Given the description of an element on the screen output the (x, y) to click on. 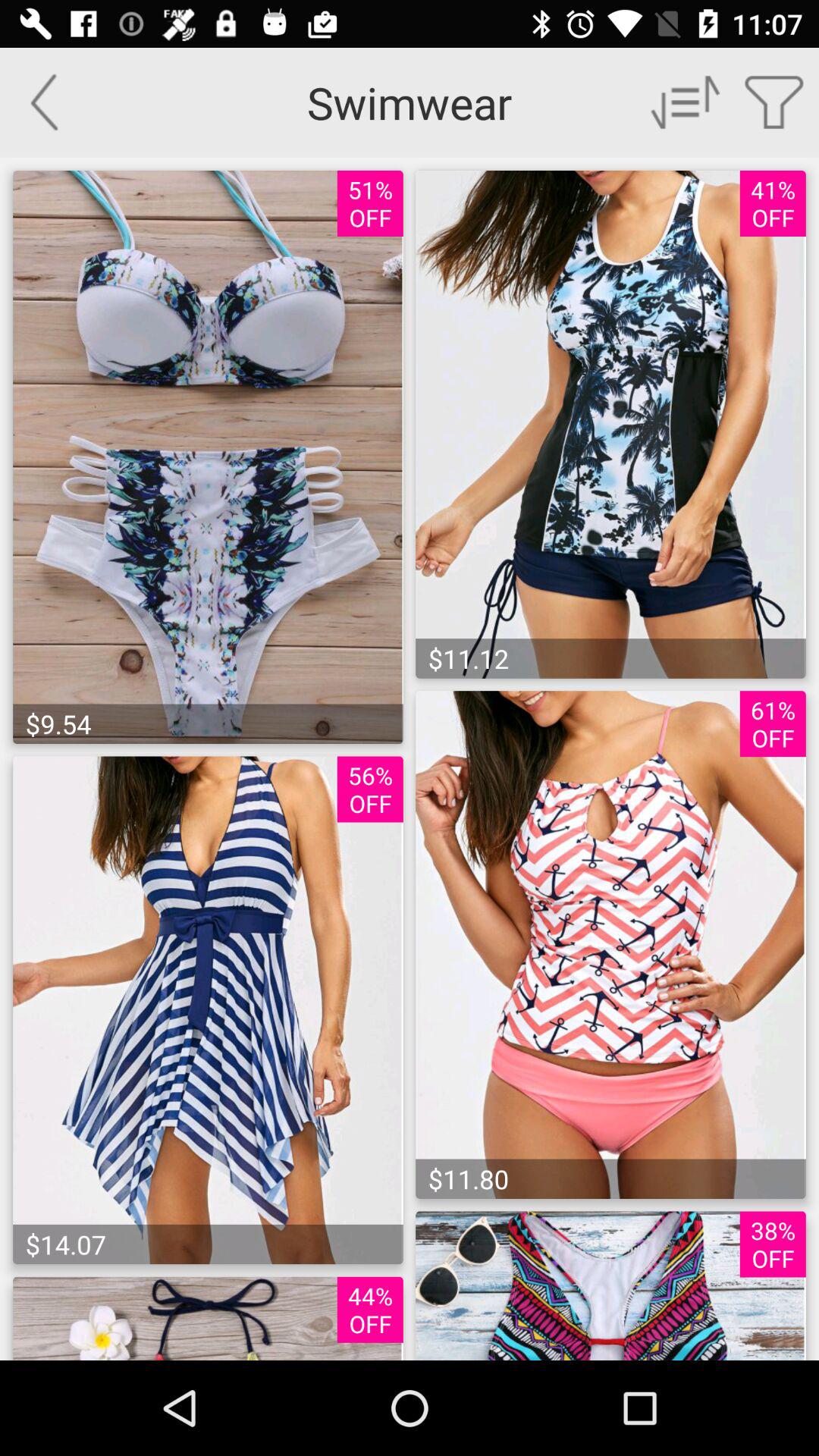
drop down menu (686, 102)
